Given the description of an element on the screen output the (x, y) to click on. 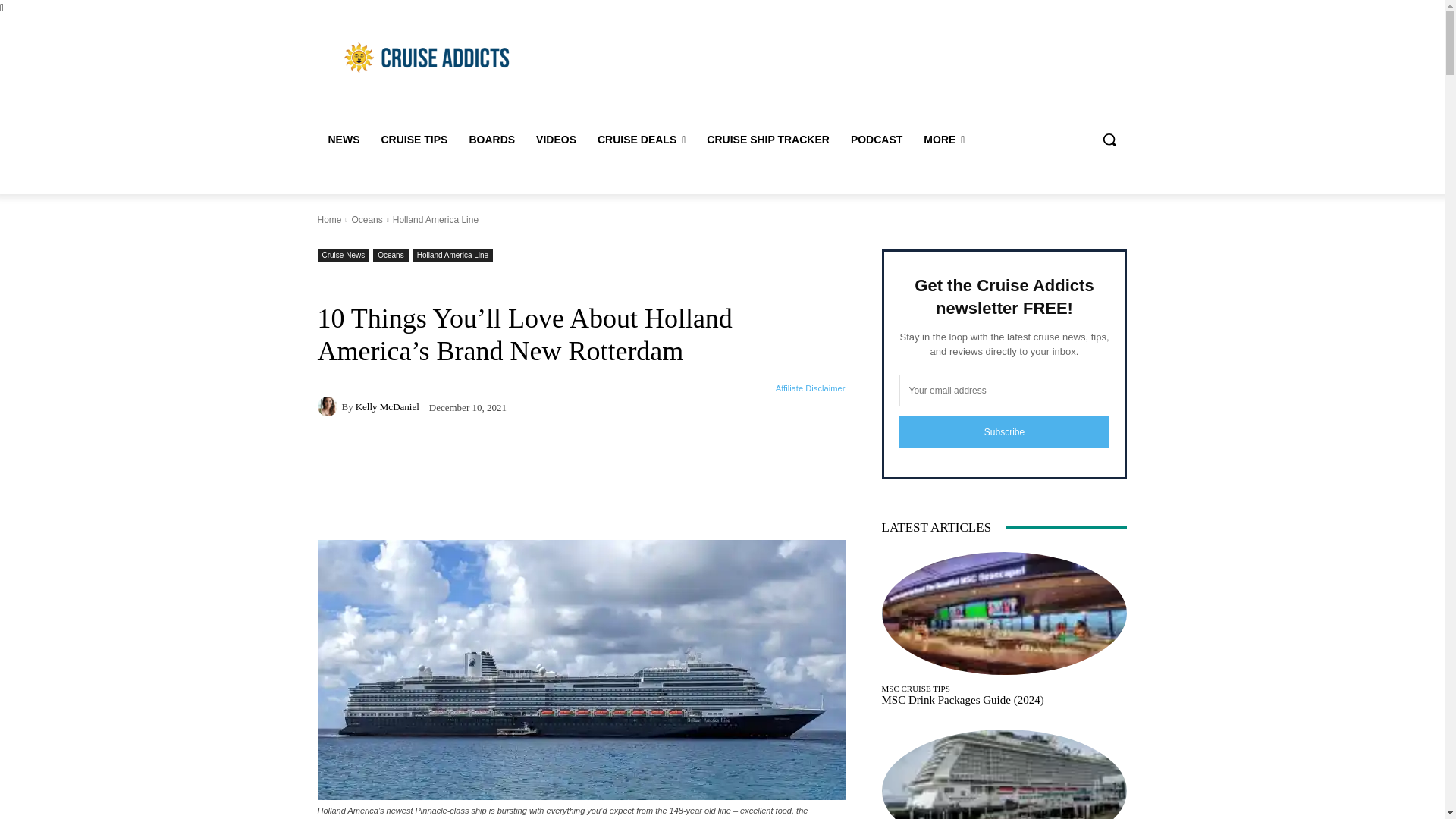
News (343, 139)
VIDEOS (555, 139)
BOARDS (491, 139)
CRUISE DEALS (640, 139)
Videos (555, 139)
NEWS (343, 139)
Cruise Tips (413, 139)
CRUISE TIPS (413, 139)
